Given the description of an element on the screen output the (x, y) to click on. 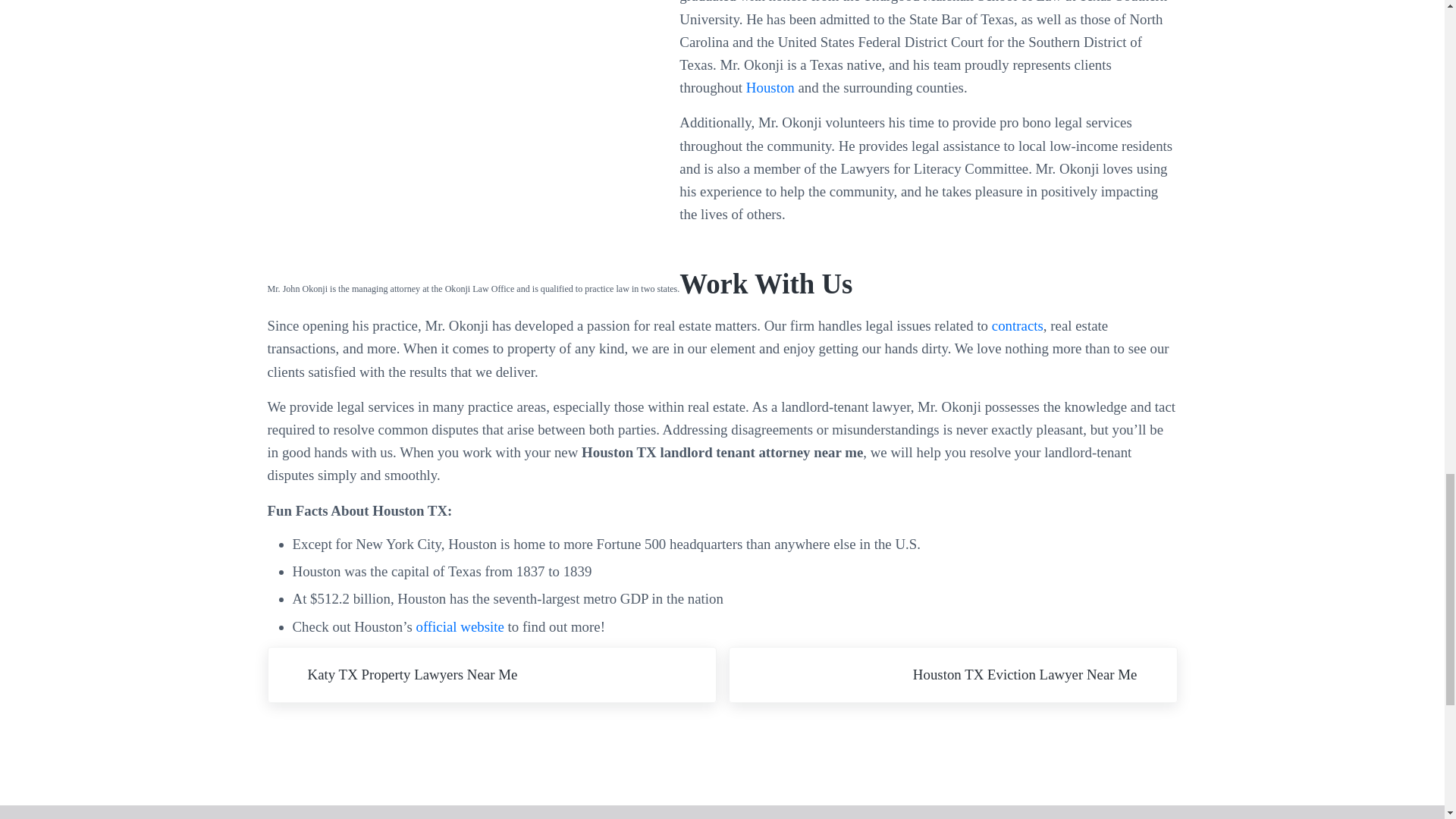
Houston TX Eviction Lawyer Near Me (952, 674)
contracts (1017, 325)
Katy TX Property Lawyers Near Me (491, 674)
Houston (771, 87)
official website (458, 626)
